Given the description of an element on the screen output the (x, y) to click on. 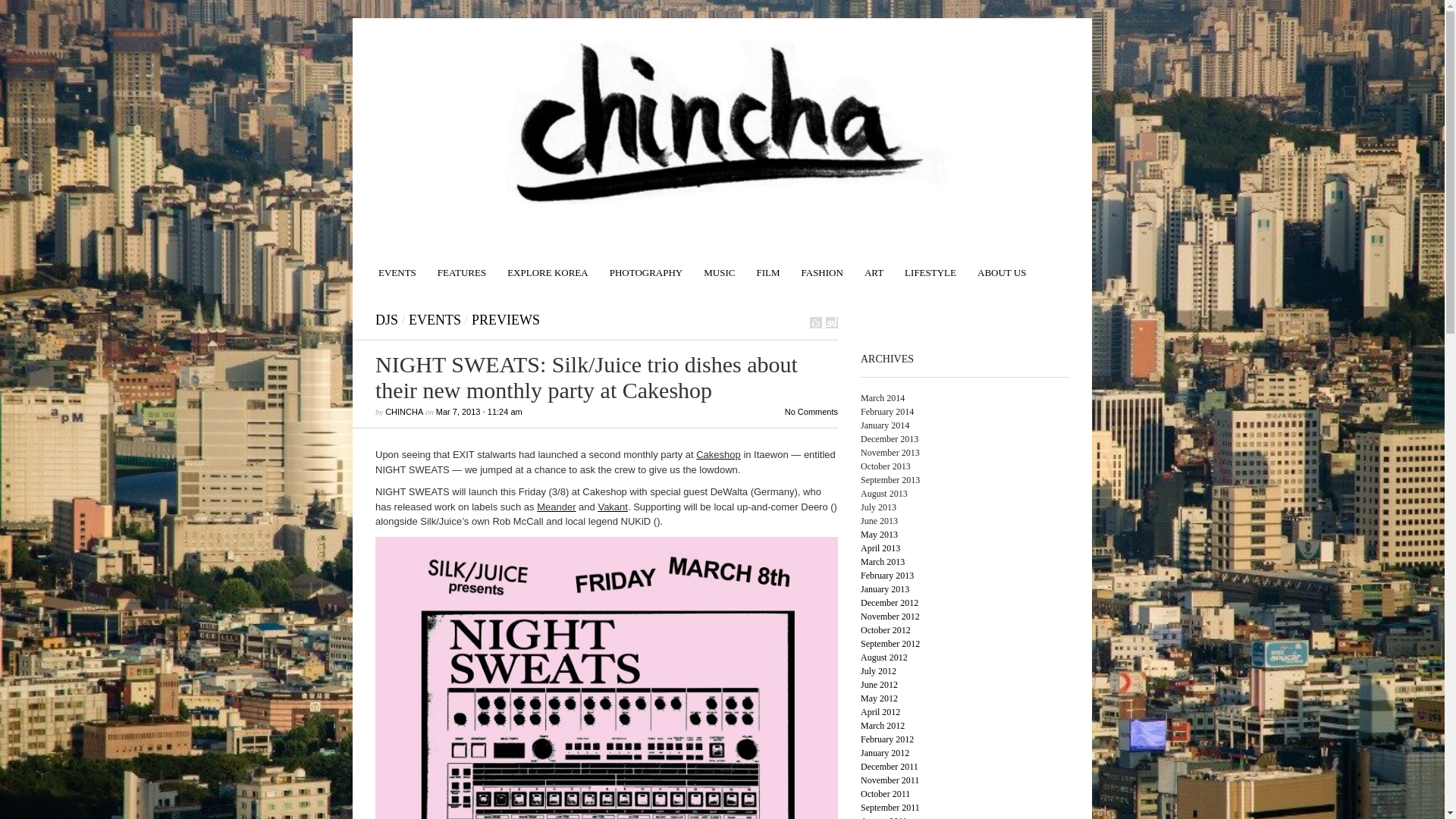
EVENTS (397, 266)
Share on StumbleUpon (831, 322)
Posts by chincha (404, 411)
CHINCHA (404, 411)
EVENTS (435, 319)
No Comments (811, 411)
EXPLORE KOREA (547, 266)
ABOUT US (1001, 266)
Our Photography (646, 266)
DJS (386, 319)
Events This Week (397, 266)
FILM (767, 266)
View all posts in Events (435, 319)
View all posts in DJs (386, 319)
MUSIC (719, 266)
